Given the description of an element on the screen output the (x, y) to click on. 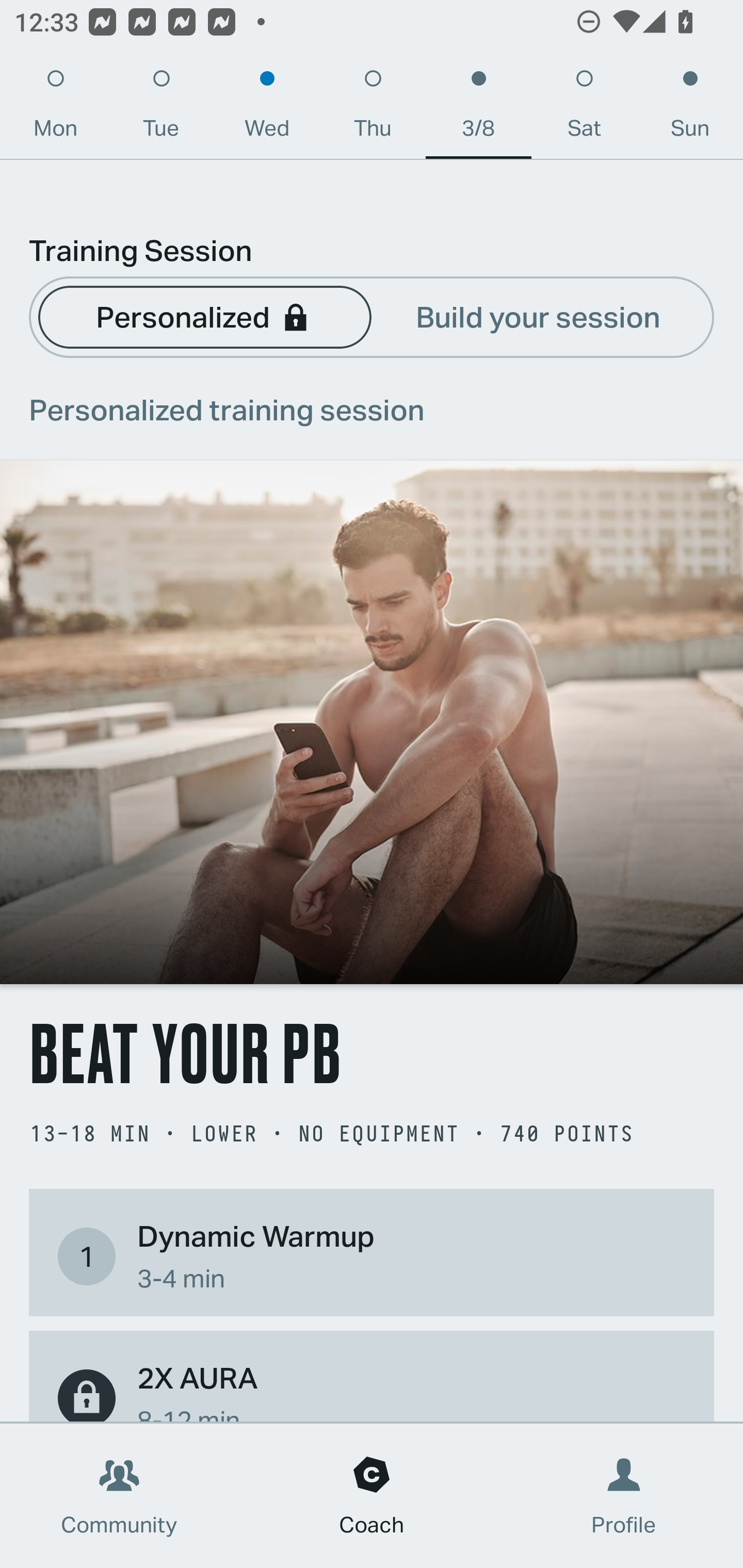
Mon (55, 108)
Tue (160, 108)
Wed (266, 108)
Thu (372, 108)
3/8 (478, 108)
Sat (584, 108)
Sun (690, 108)
Personalized (204, 315)
Build your session (538, 315)
1 Dynamic Warmup 3-4 min (371, 1256)
2X AURA 8-12 min (371, 1388)
Community (119, 1495)
Profile (624, 1495)
